Given the description of an element on the screen output the (x, y) to click on. 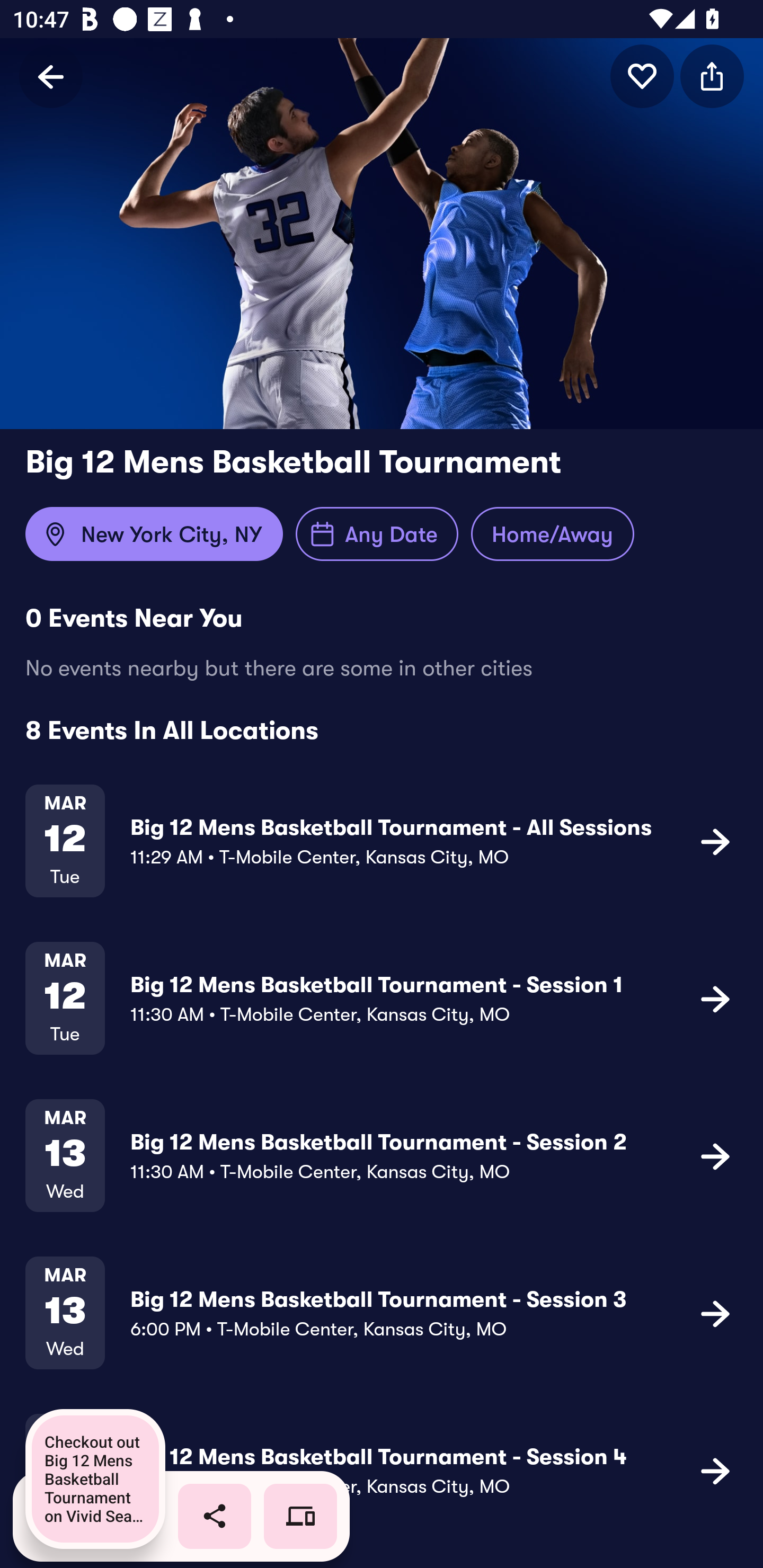
Back (50, 75)
icon button (641, 75)
icon button (711, 75)
New York City, NY (153, 533)
Any Date (377, 533)
Home/Away (552, 533)
icon button (714, 840)
icon button (714, 998)
icon button (714, 1155)
icon button (714, 1312)
icon button (714, 1470)
